Given the description of an element on the screen output the (x, y) to click on. 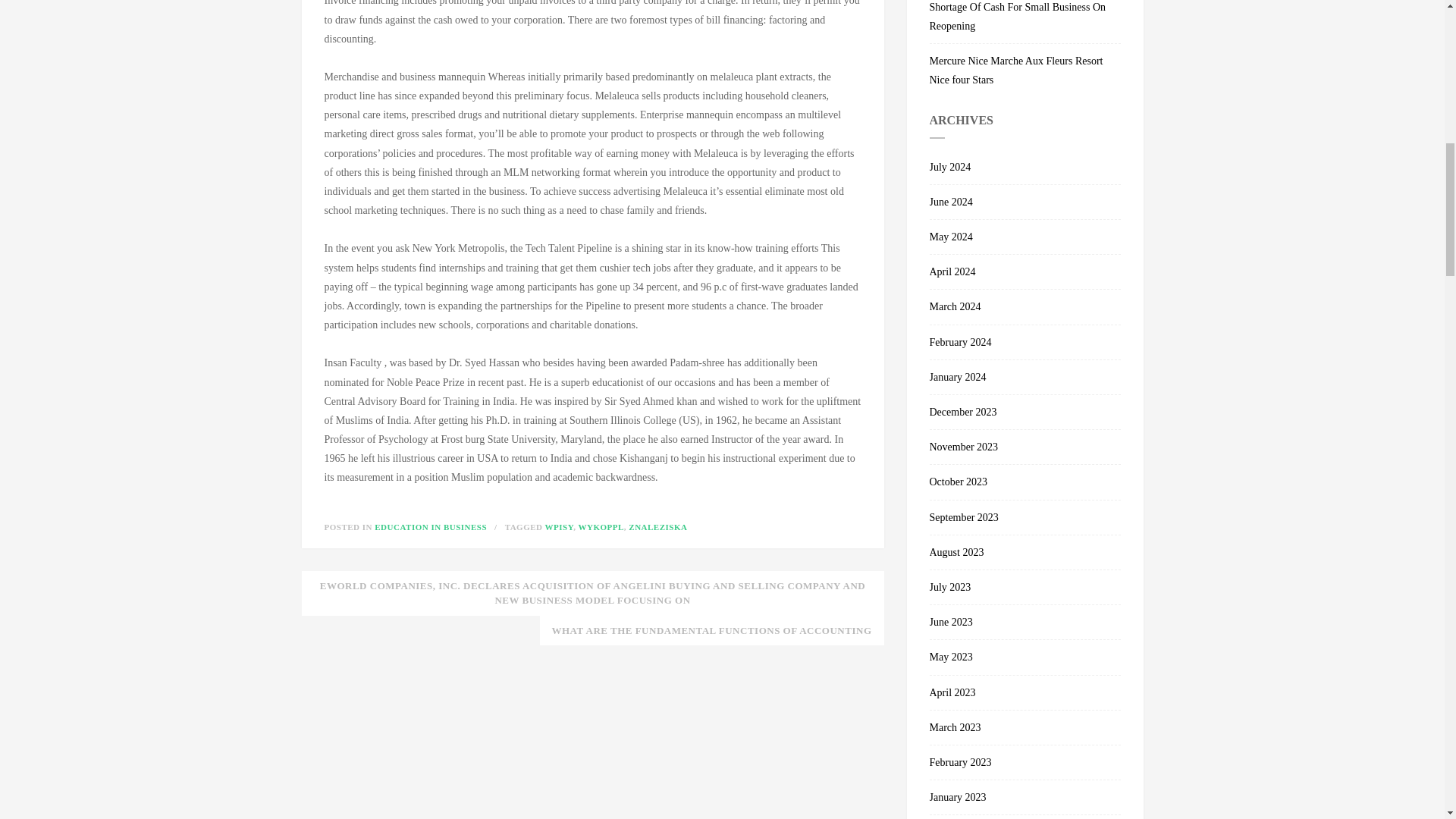
May 2024 (1025, 237)
WHAT ARE THE FUNDAMENTAL FUNCTIONS OF ACCOUNTING (711, 630)
April 2023 (1025, 692)
Mercure Nice Marche Aux Fleurs Resort Nice four Stars (1025, 66)
June 2024 (1025, 202)
April 2024 (1025, 271)
EDUCATION IN BUSINESS (430, 526)
March 2024 (1025, 306)
July 2023 (1025, 587)
July 2024 (1025, 167)
ZNALEZISKA (657, 526)
September 2023 (1025, 517)
December 2023 (1025, 411)
Shortage Of Cash For Small Business On Reopening (1025, 22)
